Given the description of an element on the screen output the (x, y) to click on. 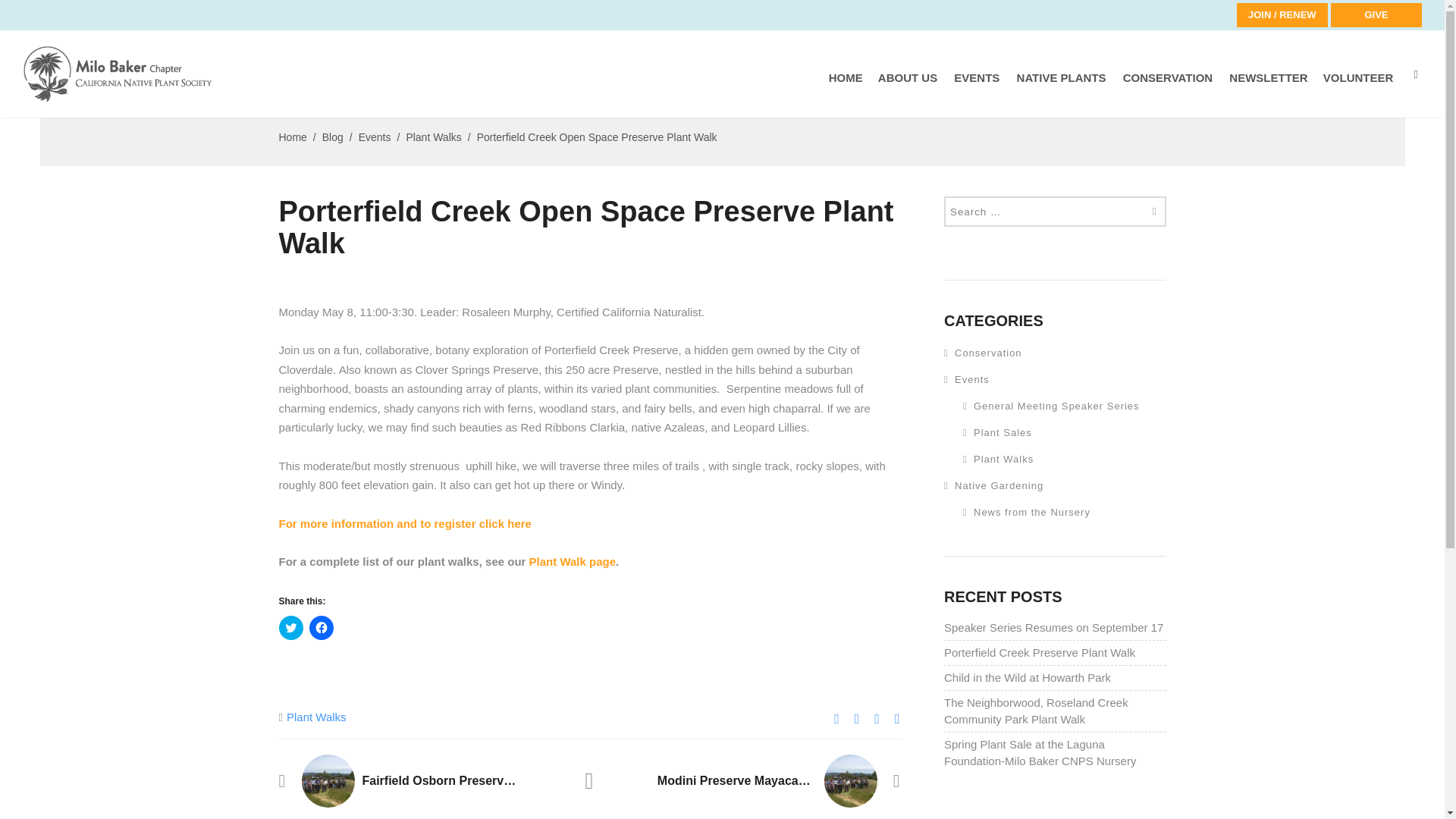
EVENTS (977, 90)
NEWSLETTER (1268, 90)
Click to share on Facebook (320, 627)
CONSERVATION (1168, 90)
ABOUT US (908, 90)
Click to share on Twitter (290, 627)
NATIVE PLANTS (1061, 90)
